Given the description of an element on the screen output the (x, y) to click on. 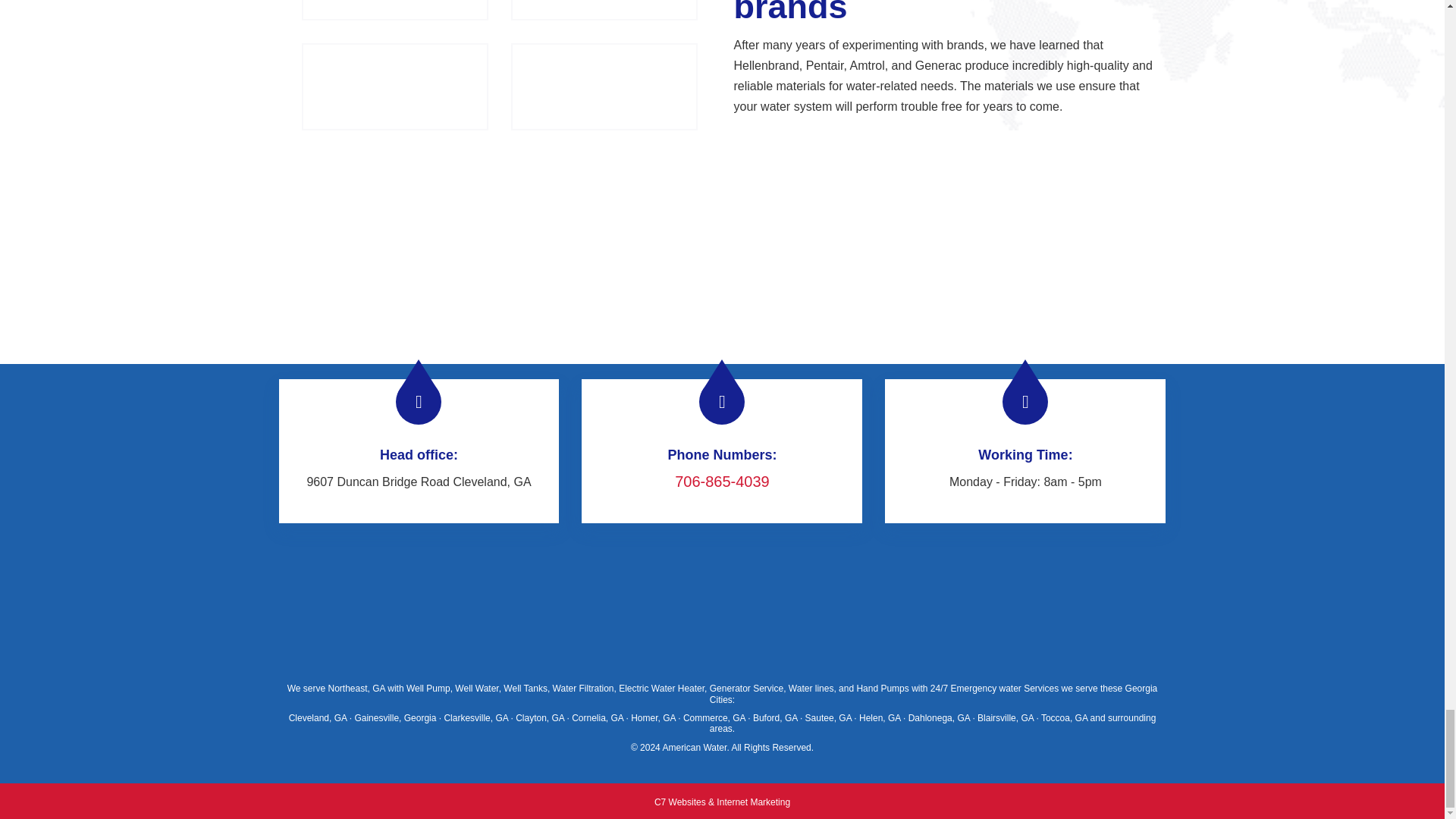
American Water (694, 747)
706-865-4039 (722, 481)
